Given the description of an element on the screen output the (x, y) to click on. 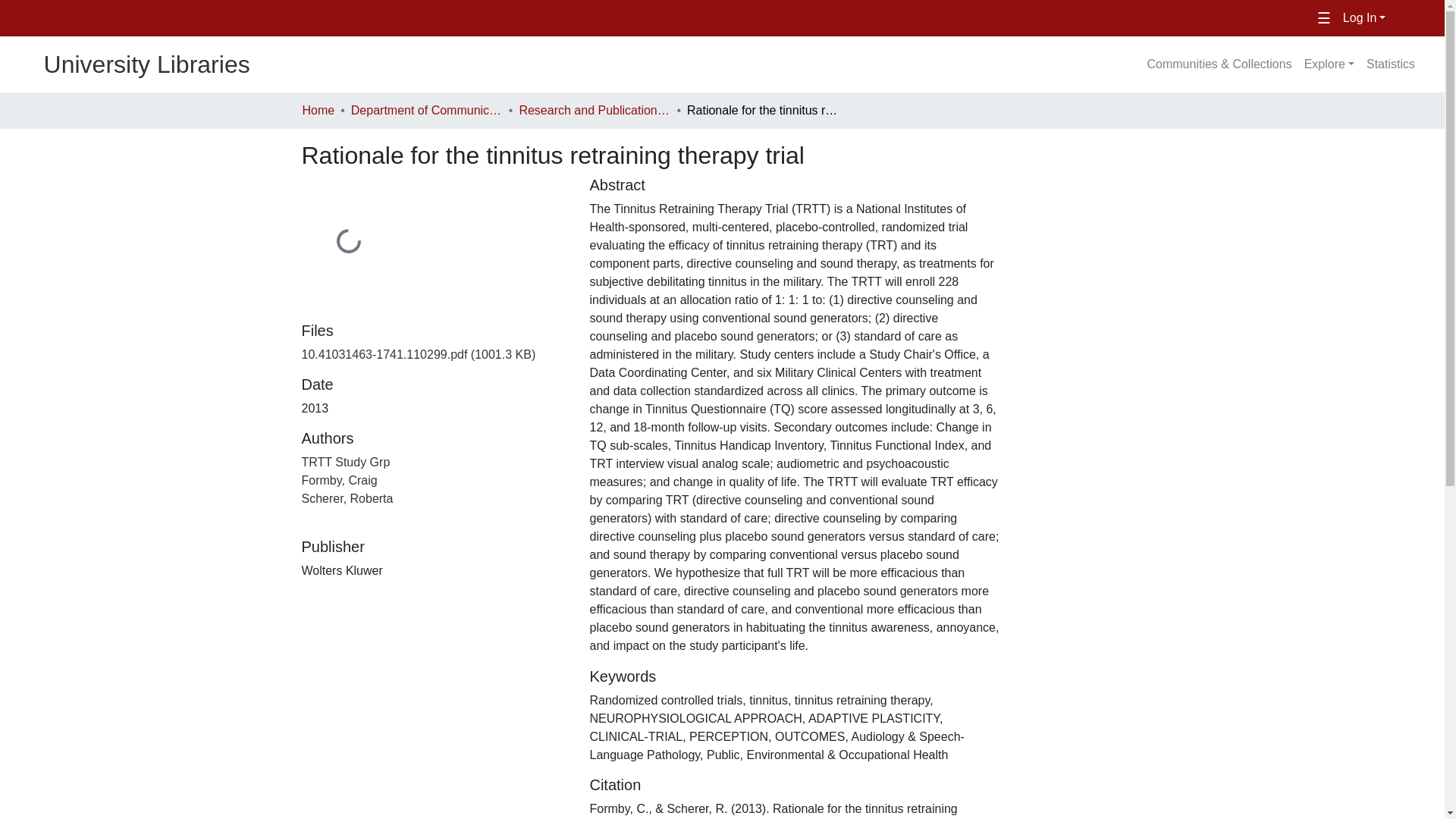
University Libraries (125, 64)
The University of Alabama (254, 18)
Home (317, 110)
Log In (1364, 17)
TRTT Study Grp (345, 461)
Statistics (1390, 64)
Statistics (1390, 64)
Explore (1328, 64)
Department of Communicative Disorders (426, 110)
